Given the description of an element on the screen output the (x, y) to click on. 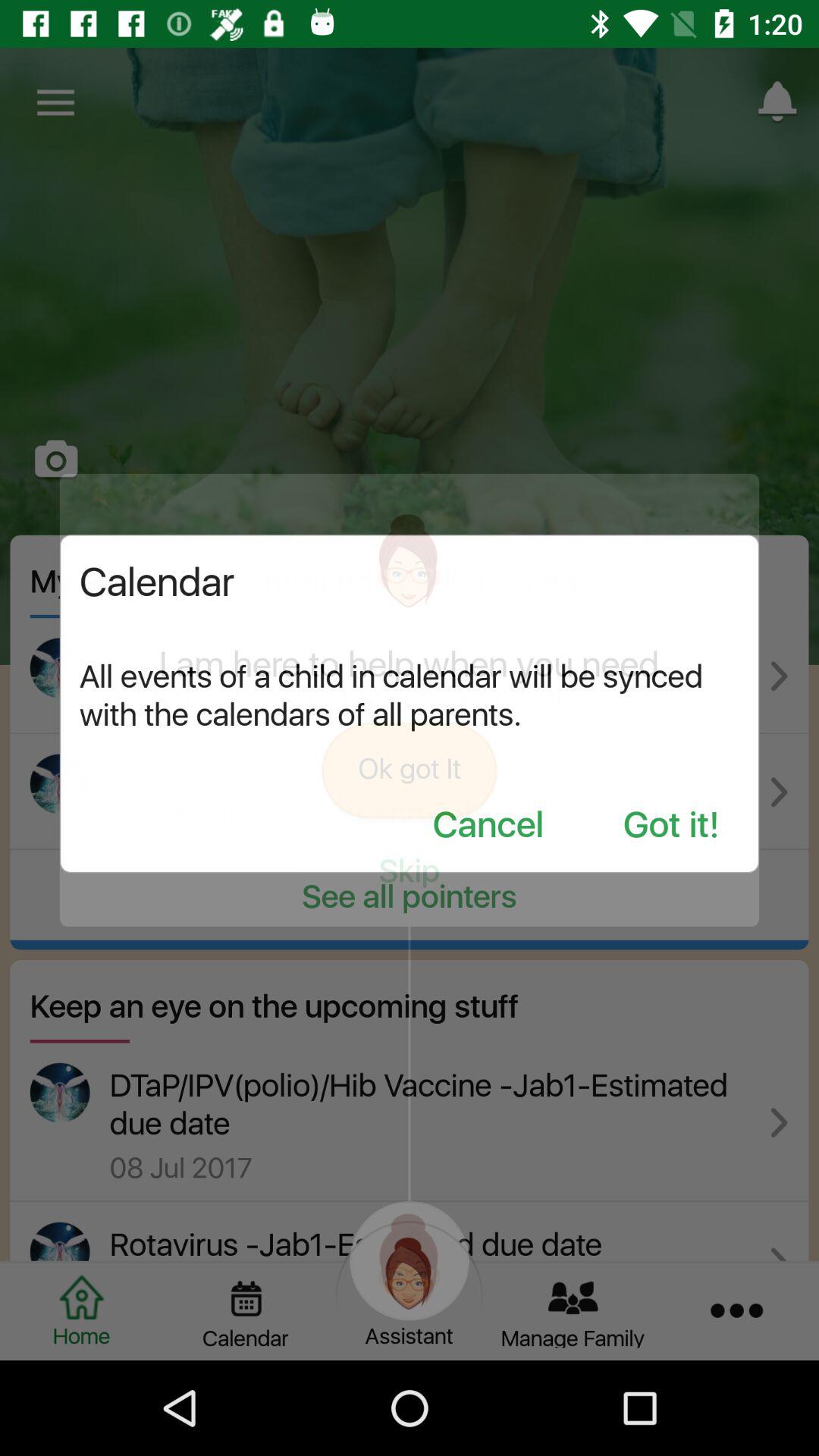
choose the item below the all events of icon (671, 826)
